Given the description of an element on the screen output the (x, y) to click on. 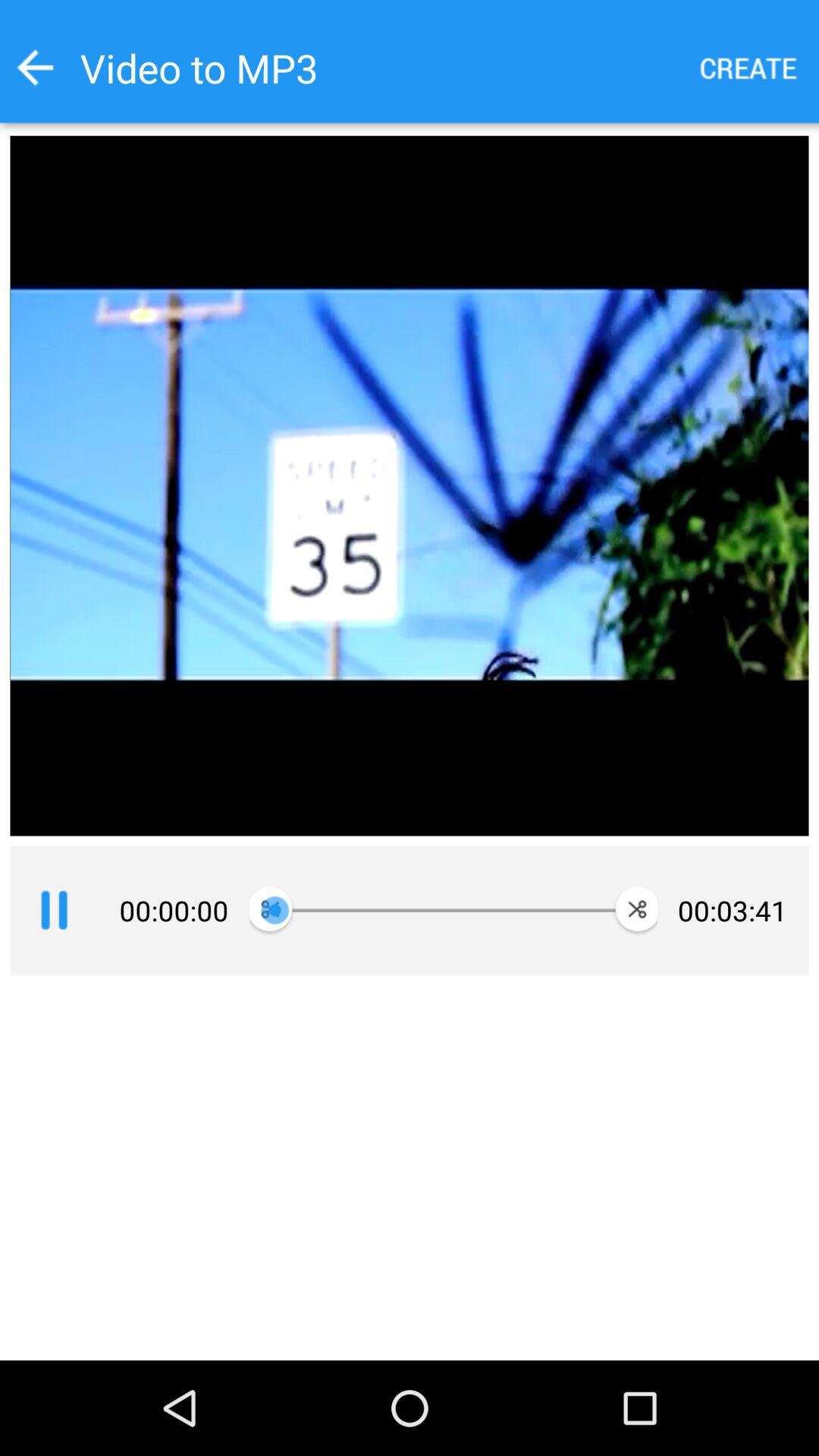
pause the video (54, 910)
